Given the description of an element on the screen output the (x, y) to click on. 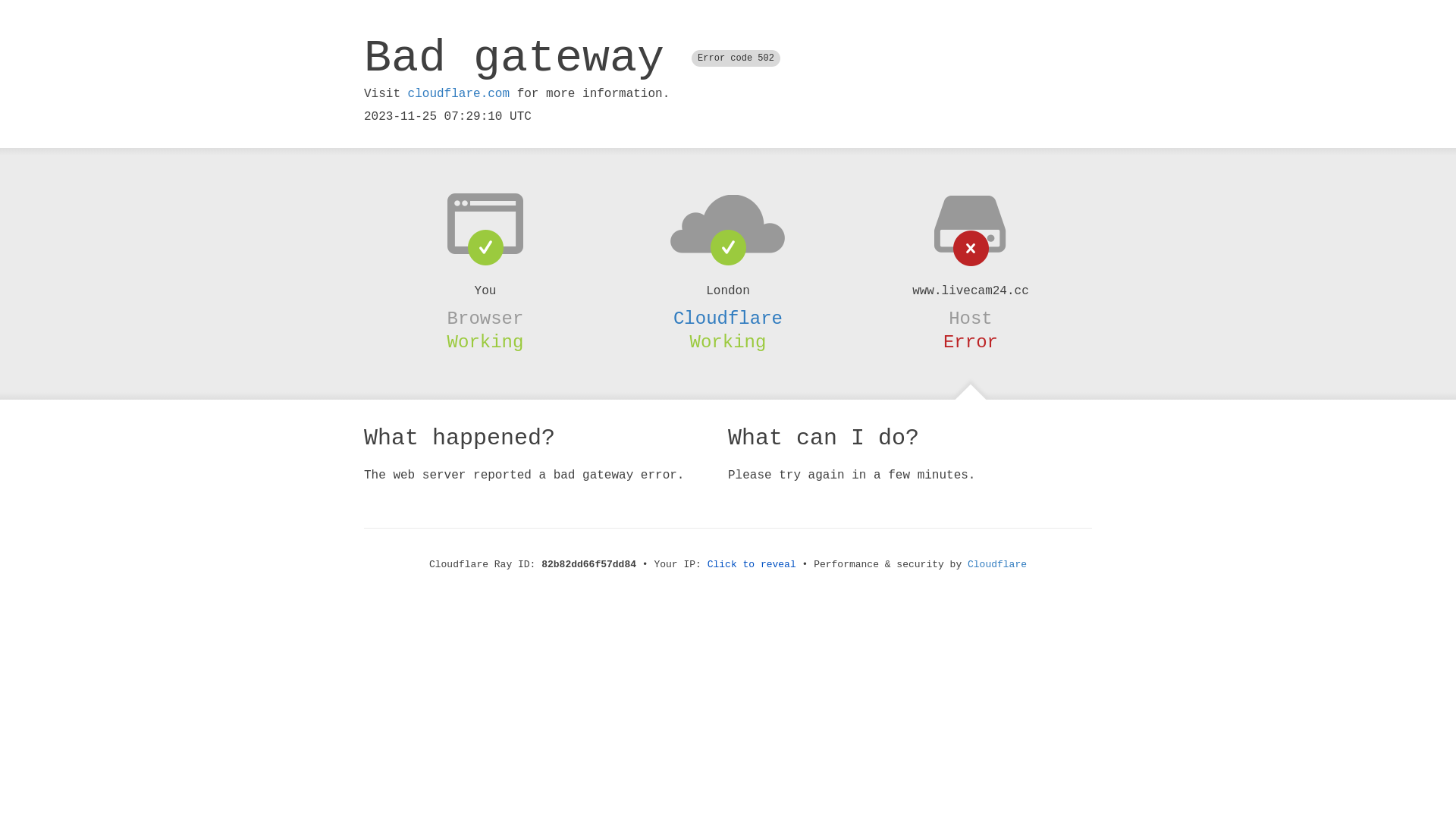
Cloudflare Element type: text (727, 318)
Cloudflare Element type: text (996, 564)
cloudflare.com Element type: text (458, 93)
Click to reveal Element type: text (751, 564)
